Given the description of an element on the screen output the (x, y) to click on. 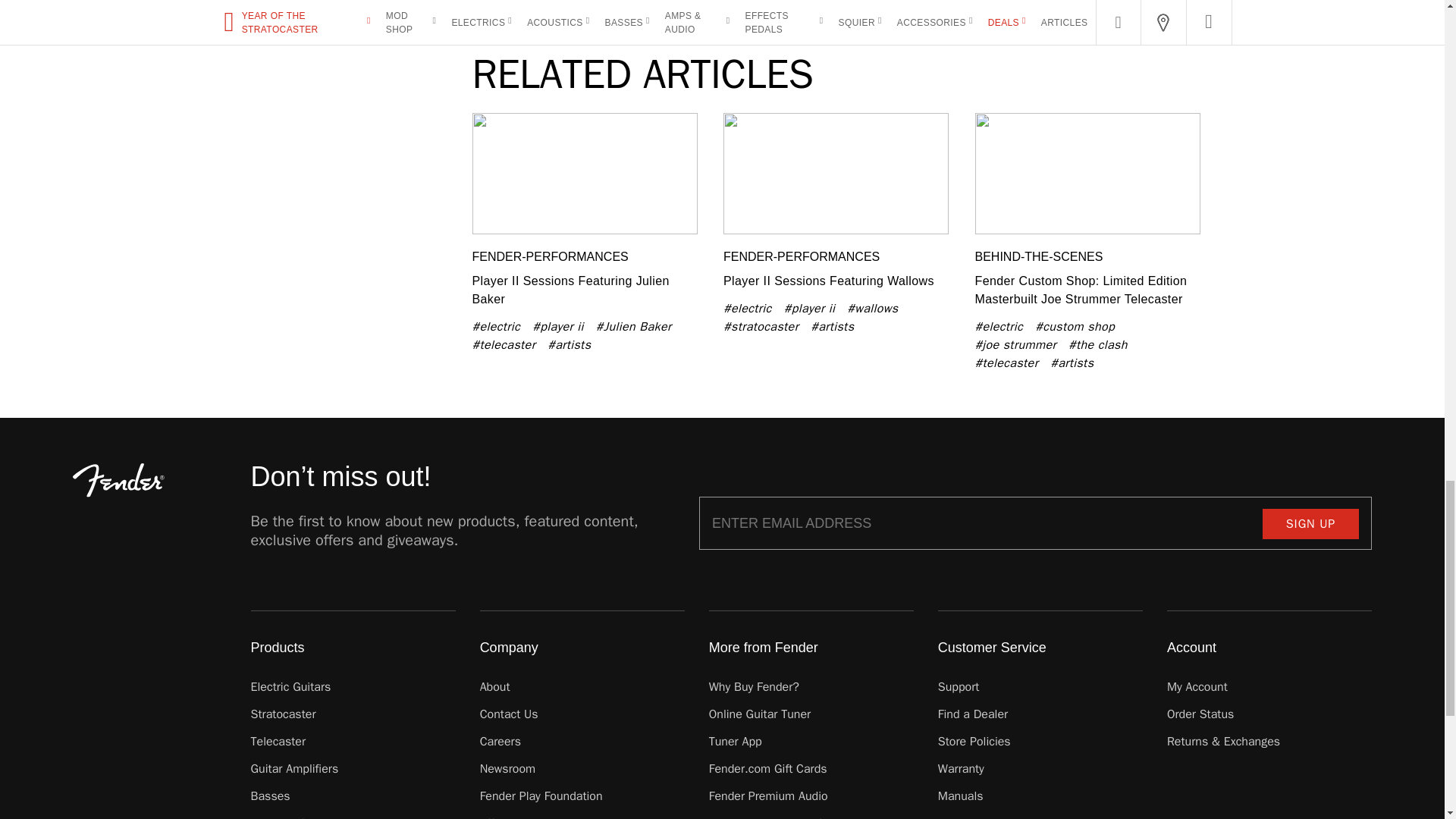
Fender.com (118, 480)
